Given the description of an element on the screen output the (x, y) to click on. 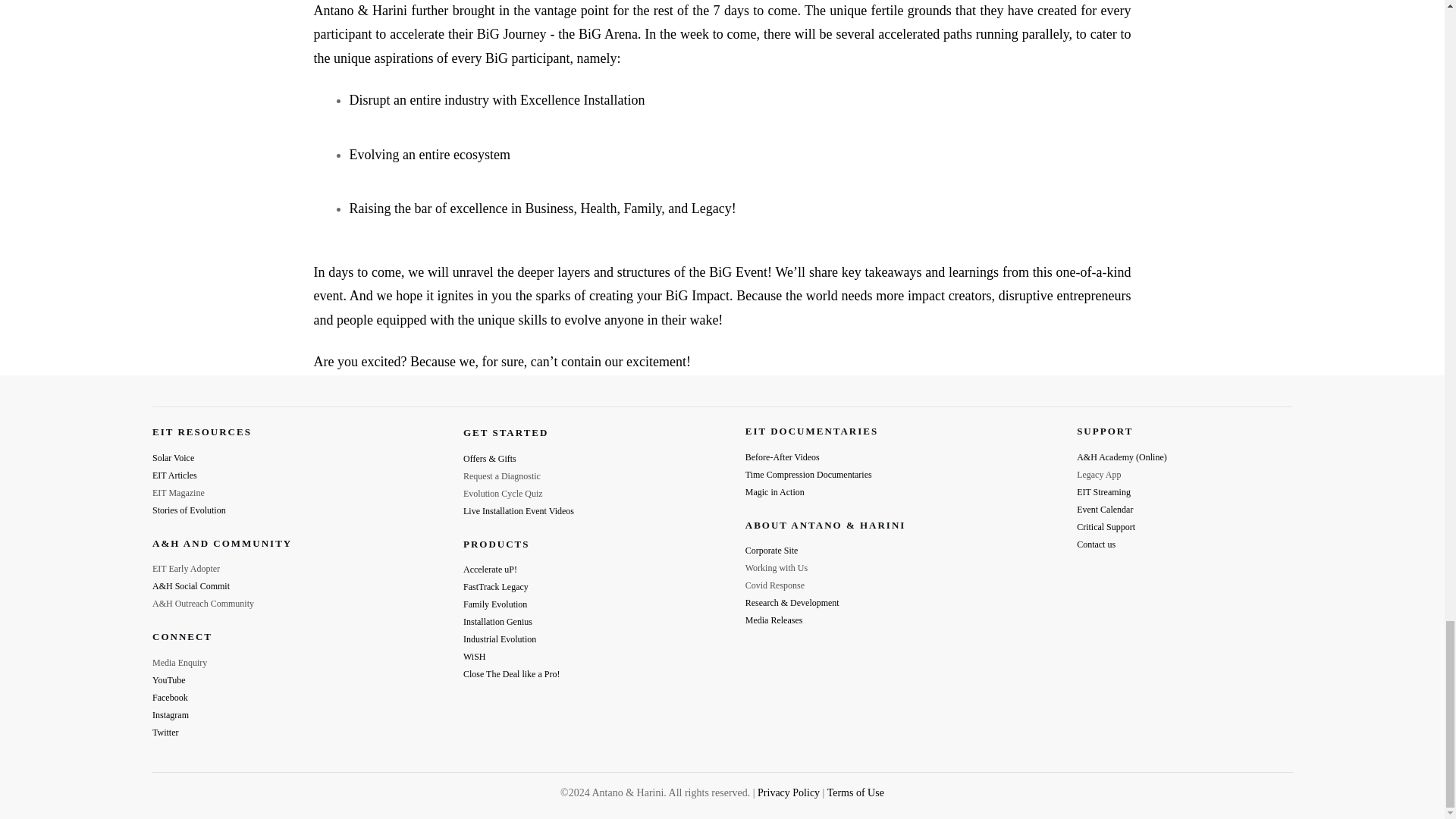
Corporate Site (771, 550)
Before-After Videos (782, 457)
Live Installation Event Videos (518, 511)
Family Evolution (495, 603)
FastTrack Legacy (495, 586)
YouTube (169, 679)
Media Releases (774, 620)
Instagram (170, 715)
Close The Deal like a Pro! (511, 674)
Solar Voice (172, 457)
Installation Genius (497, 621)
Industrial Evolution (499, 638)
Facebook (169, 697)
EIT Articles (174, 475)
Time Compression Documentaries (808, 474)
